Given the description of an element on the screen output the (x, y) to click on. 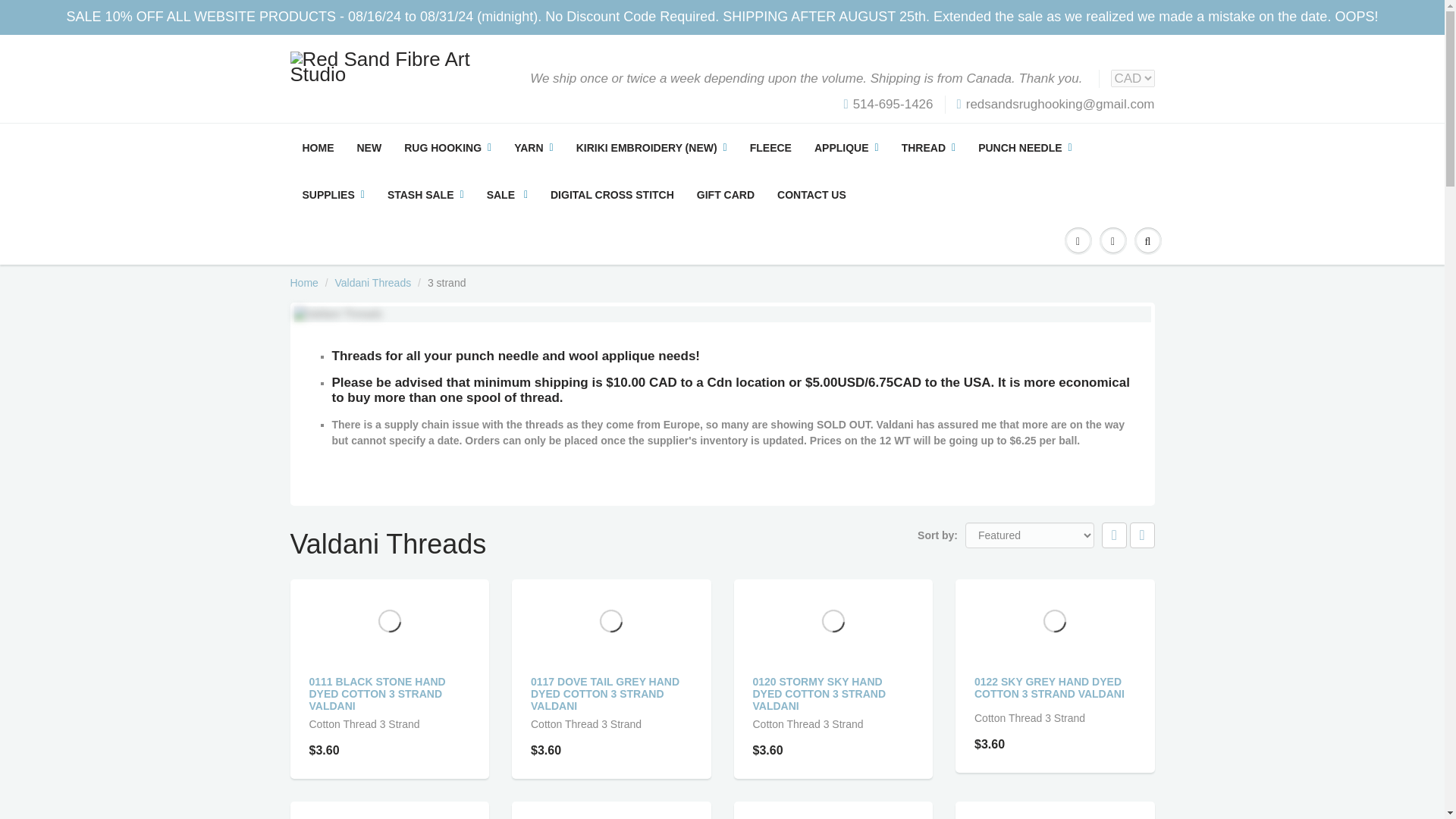
Home (303, 282)
Grid view (1114, 534)
YARN (533, 147)
NEW (369, 147)
List View (1141, 534)
HOME (318, 147)
514-695-1426 (888, 104)
RUG HOOKING (447, 147)
